Given the description of an element on the screen output the (x, y) to click on. 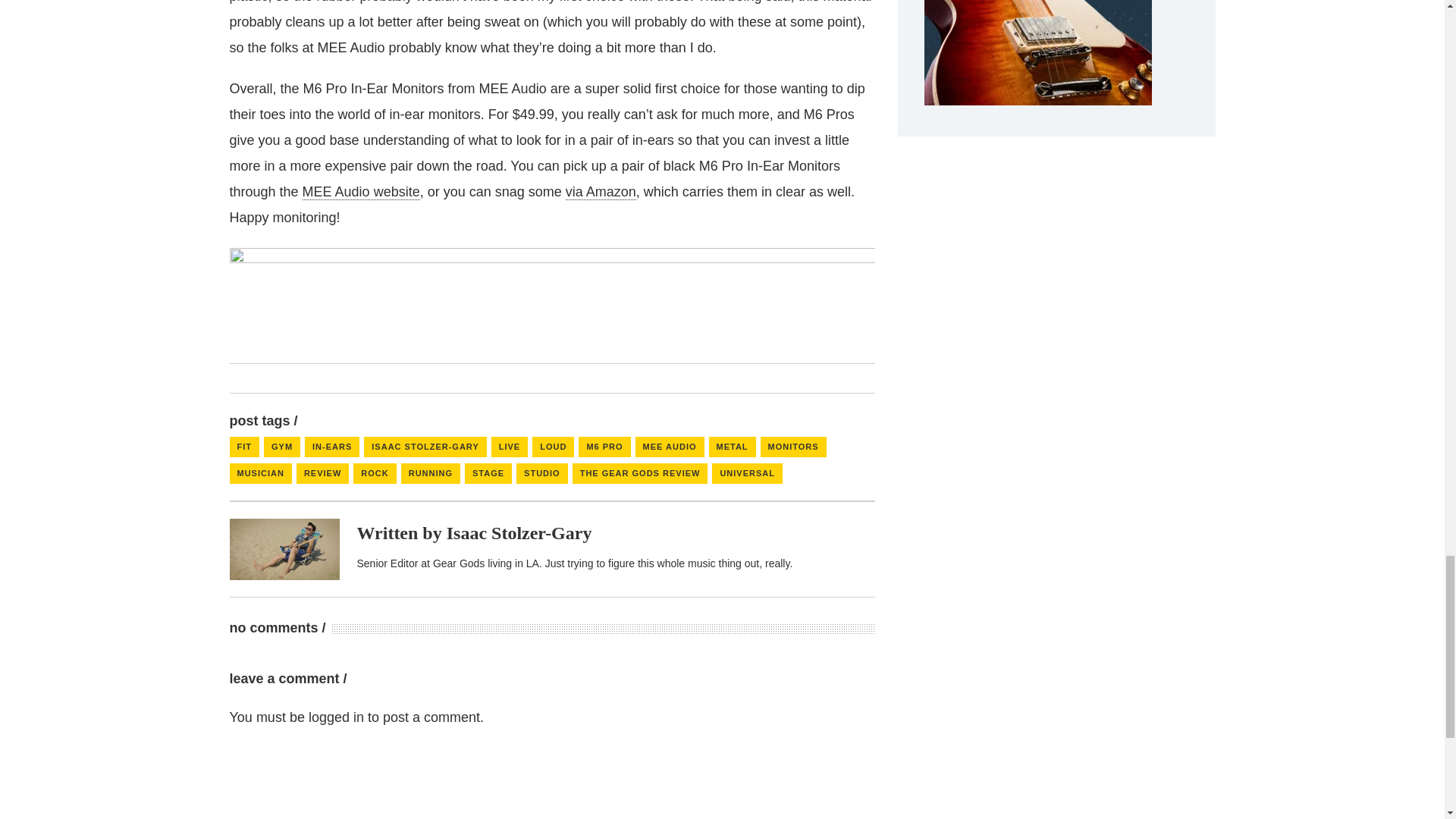
MEE AUDIO M6 Pro In-Ears: The Gear Gods Review (519, 532)
MEE AUDIO M6 Pro In-Ears: The Gear Gods Review (283, 548)
